Given the description of an element on the screen output the (x, y) to click on. 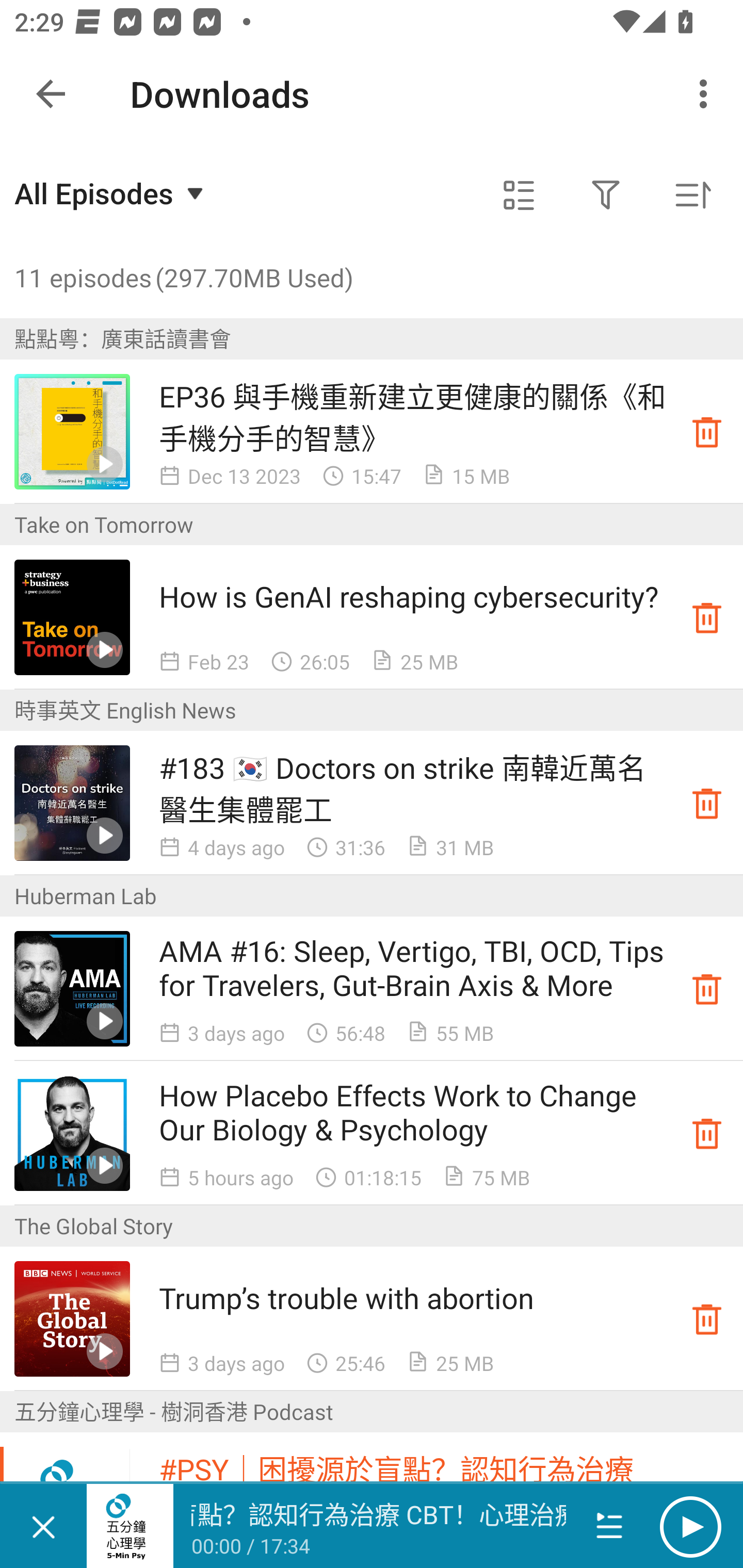
Navigate up (50, 93)
More options (706, 93)
All Episodes (111, 192)
 (518, 195)
 (605, 195)
 Sorted by oldest first (692, 195)
Downloaded (706, 431)
Downloaded (706, 617)
Downloaded (706, 802)
Downloaded (706, 988)
Downloaded (706, 1133)
Downloaded (706, 1318)
Play (690, 1526)
